Given the description of an element on the screen output the (x, y) to click on. 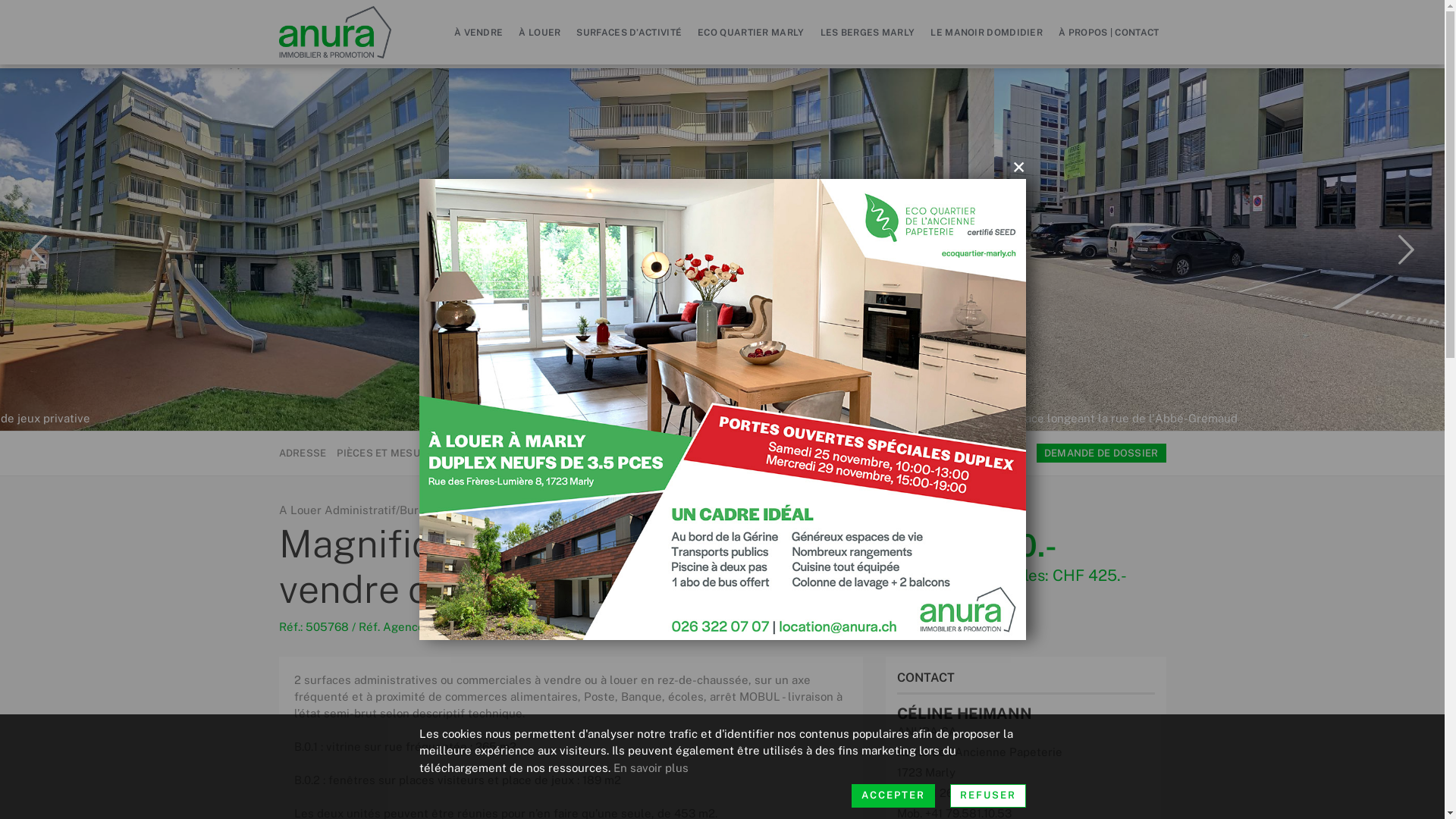
LISTE DES LOTS DE CETTE PROMOTION Element type: text (767, 452)
ACCEPTER Element type: text (892, 795)
DEMANDE DE DOSSIER Element type: text (1101, 452)
LES BERGES MARLY Element type: text (867, 31)
LE MANOIR DOMDIDIER Element type: text (986, 31)
En savoir plus Element type: text (649, 767)
REFUSER Element type: text (987, 795)
ECO QUARTIER MARLY Element type: text (750, 31)
ADRESSE Element type: text (302, 452)
ANNEXE Element type: text (637, 452)
